Given the description of an element on the screen output the (x, y) to click on. 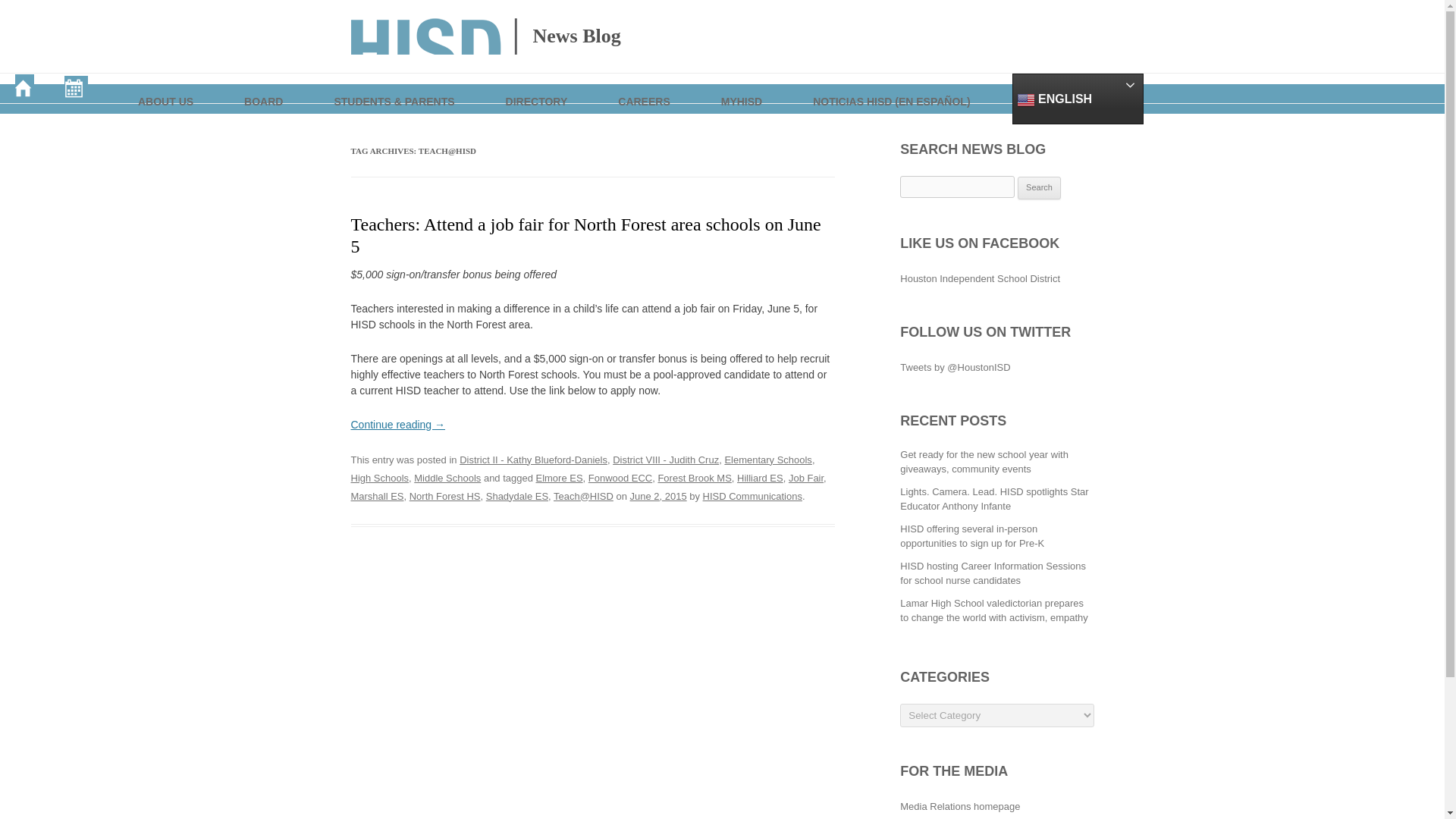
DIRECTORY (537, 88)
ENGLISH (1076, 98)
District VIII - Judith Cruz (665, 460)
News Blog (485, 36)
Hilliard ES (759, 478)
Forest Brook MS (694, 478)
CAREERS (644, 88)
Search (1039, 187)
Job Fair (806, 478)
ABOUT US (167, 88)
BOARD (264, 88)
High Schools (379, 478)
Middle Schools (446, 478)
Shadydale ES (517, 496)
